Given the description of an element on the screen output the (x, y) to click on. 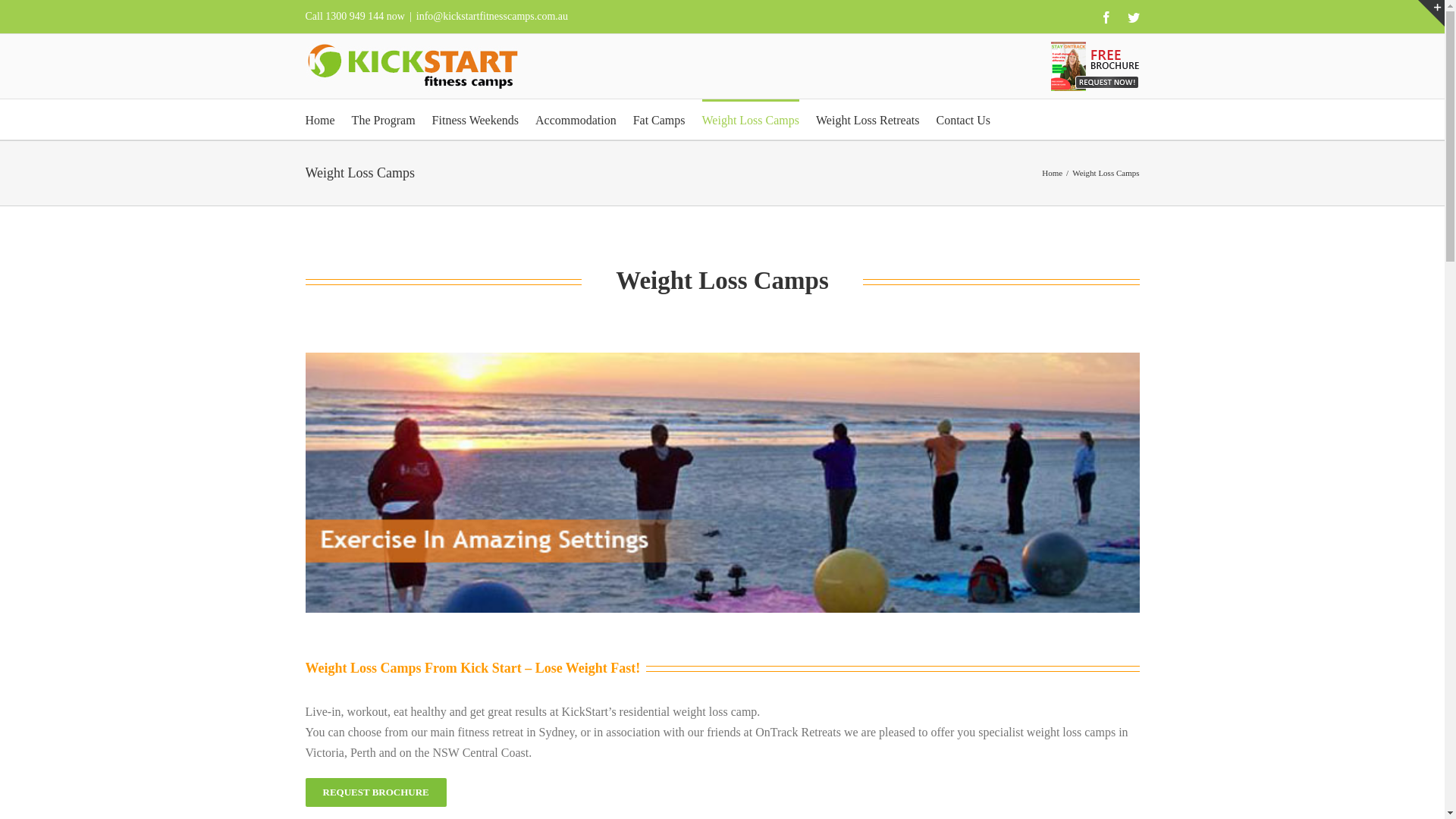
Facebook Element type: text (1105, 16)
Accommodation Element type: text (575, 119)
REQUEST BROCHURE Element type: text (374, 792)
Fitness Weekends Element type: text (475, 119)
Weight Loss Retreats Element type: text (867, 119)
Fat Camps Element type: text (659, 119)
info@kickstartfitnesscamps.com.au Element type: text (491, 15)
Twitter Element type: text (1132, 16)
Weight Loss Camps Element type: text (750, 119)
Contact Us Element type: text (962, 119)
Home Element type: text (319, 119)
The Program Element type: text (383, 119)
Home Element type: text (1051, 172)
